Given the description of an element on the screen output the (x, y) to click on. 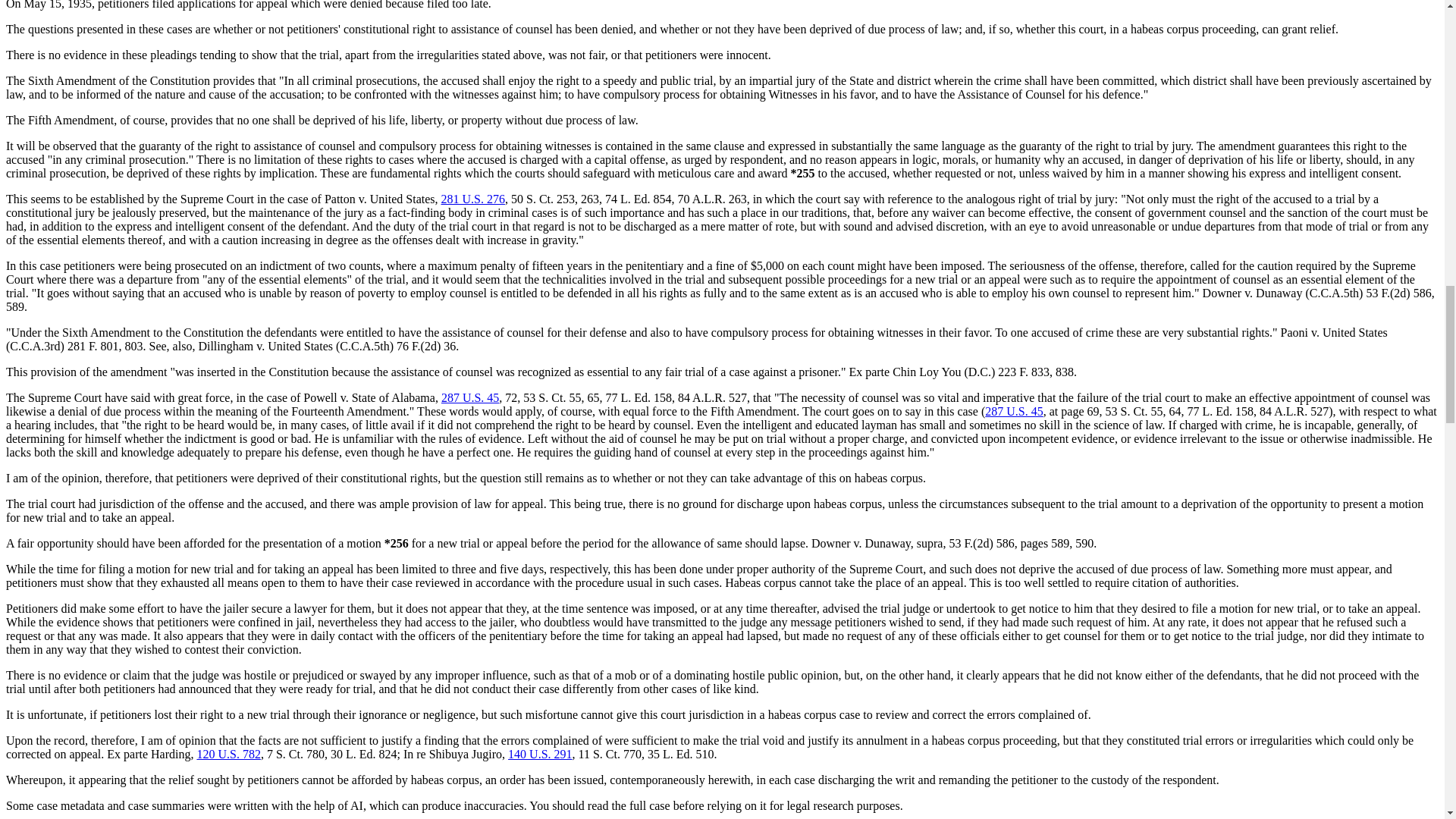
287 U.S. 45 (470, 397)
281 U.S. 276 (473, 198)
120 U.S. 782 (228, 753)
140 U.S. 291 (540, 753)
287 U.S. 45 (1013, 410)
